Given the description of an element on the screen output the (x, y) to click on. 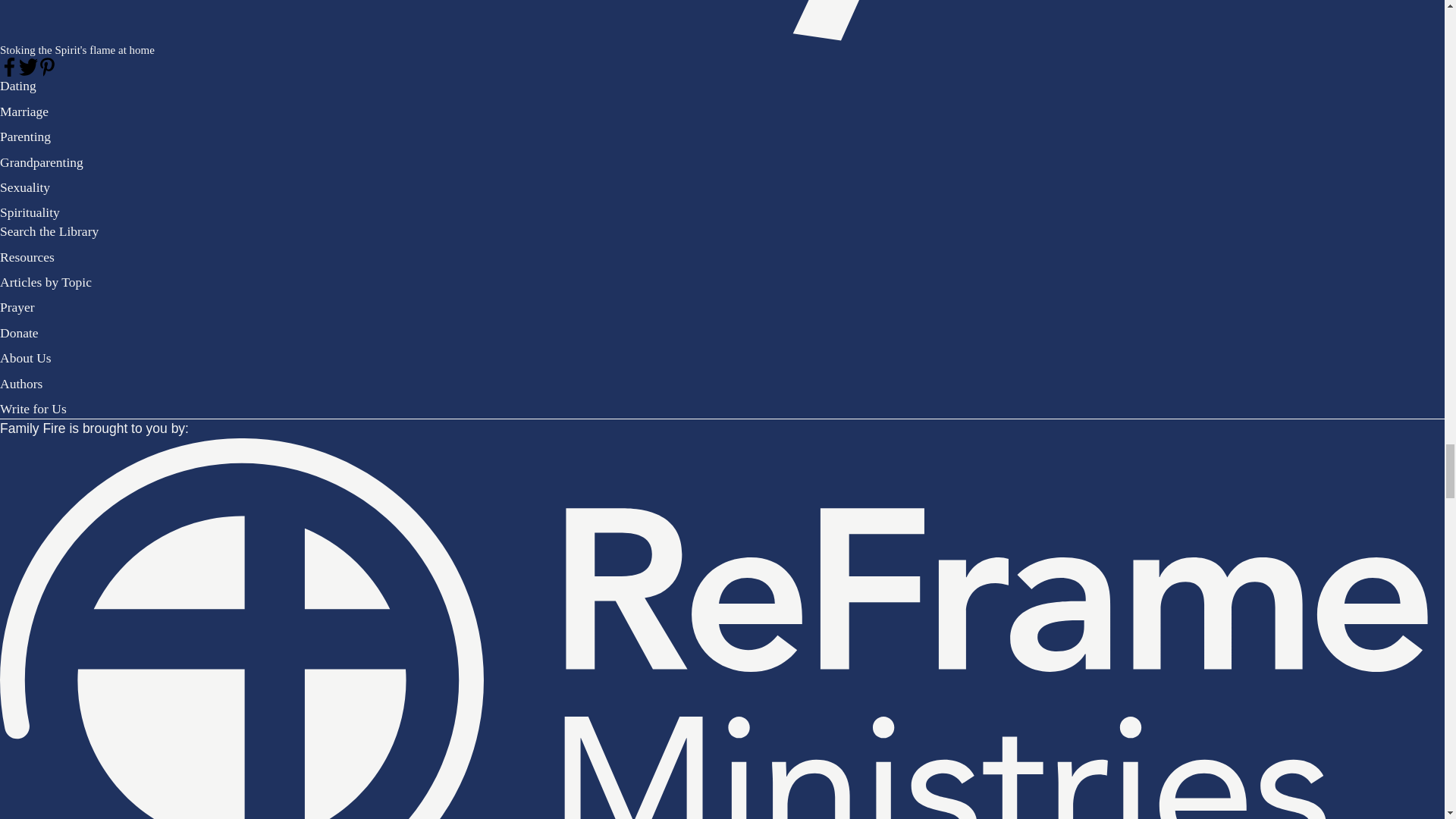
Articles by Topic (45, 281)
Donate (19, 332)
Prayer (17, 306)
Search the Library (49, 231)
Family Fire on Twitter (27, 66)
Family Fire on Pinterest (46, 66)
Sexuality (24, 186)
Resources (27, 256)
Family Fire on Facebook (9, 66)
Dating (18, 85)
Family Fire on Facebook (9, 66)
Parenting (25, 136)
Family Fire on Twitter (27, 66)
Grandparenting (41, 161)
Spirituality (29, 212)
